Given the description of an element on the screen output the (x, y) to click on. 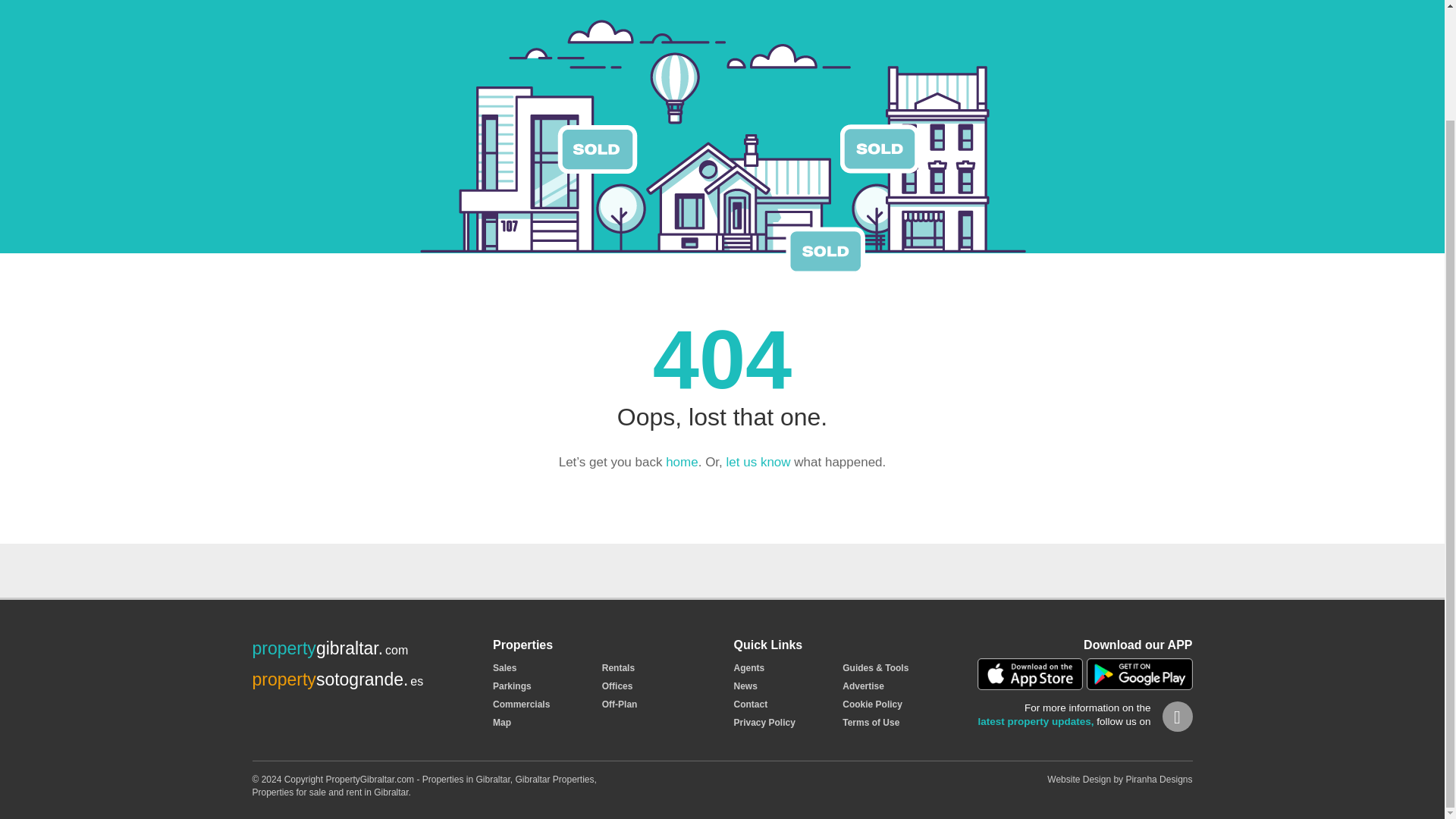
Agents (749, 667)
Off-Plan (619, 704)
Download on the APP Store (1029, 674)
Back to Home (681, 462)
Get in on Google Play (1139, 674)
Follow Us on Facebook (1176, 716)
Commercials (521, 704)
Map (502, 722)
propertygibraltar.com (329, 648)
